Given the description of an element on the screen output the (x, y) to click on. 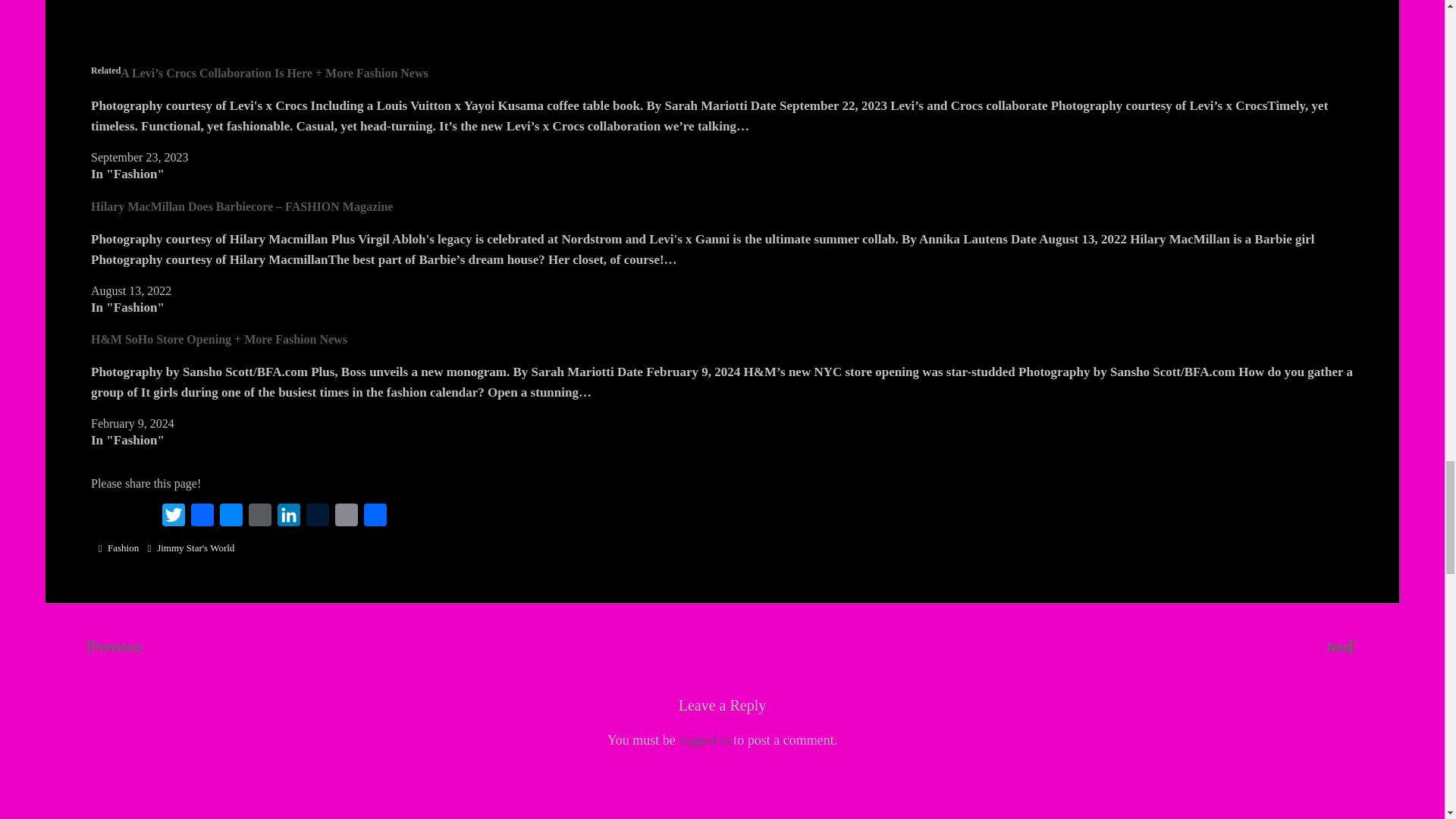
Twitter (172, 514)
WordPress (260, 514)
Facebook (201, 514)
Messenger (231, 514)
